Given the description of an element on the screen output the (x, y) to click on. 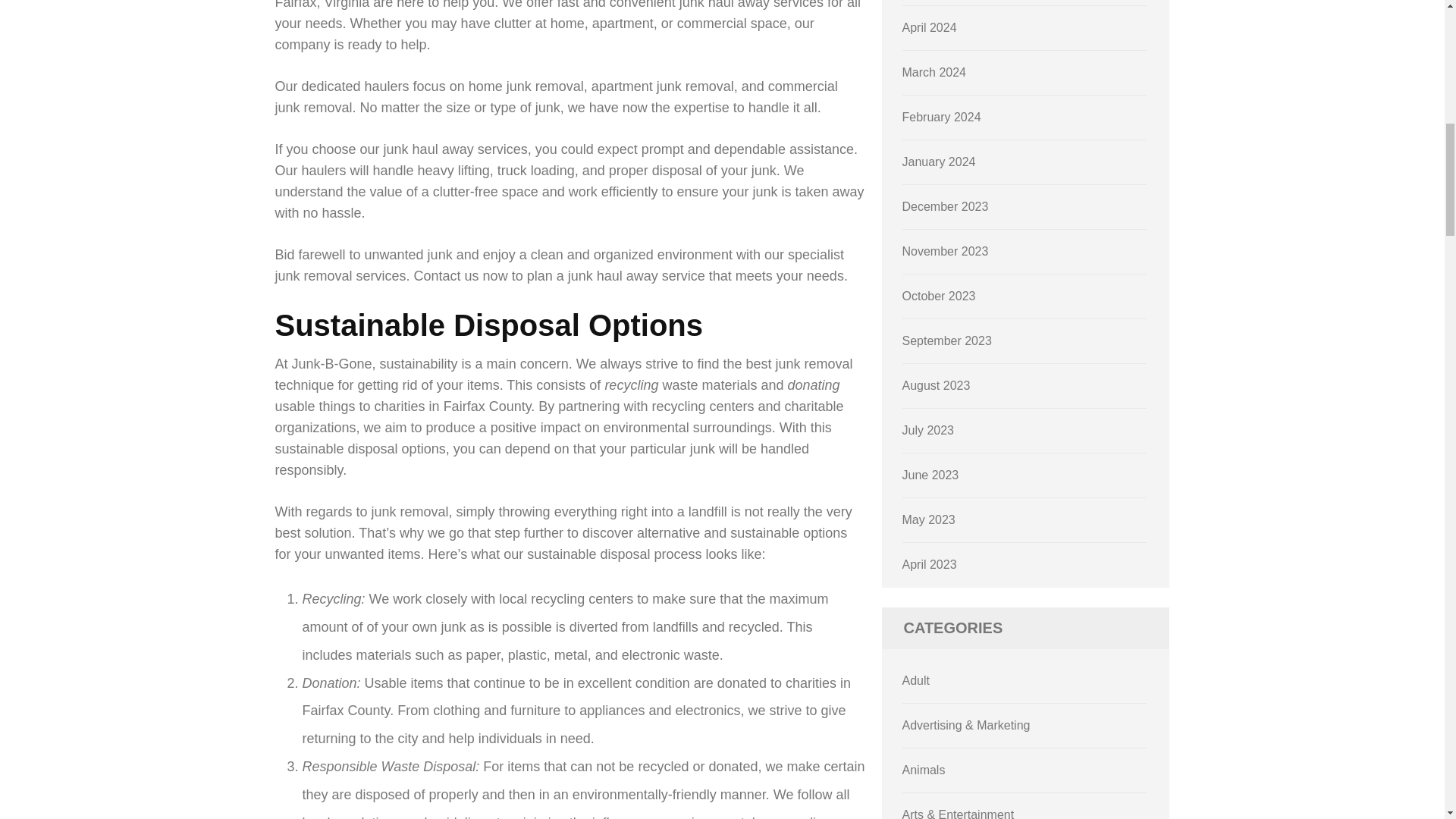
March 2024 (934, 72)
February 2024 (941, 116)
Adult (916, 680)
January 2024 (938, 161)
May 2023 (928, 519)
December 2023 (945, 205)
October 2023 (938, 295)
August 2023 (936, 385)
April 2023 (929, 563)
September 2023 (946, 340)
Animals (923, 769)
July 2023 (928, 430)
April 2024 (929, 27)
June 2023 (930, 474)
November 2023 (945, 250)
